Given the description of an element on the screen output the (x, y) to click on. 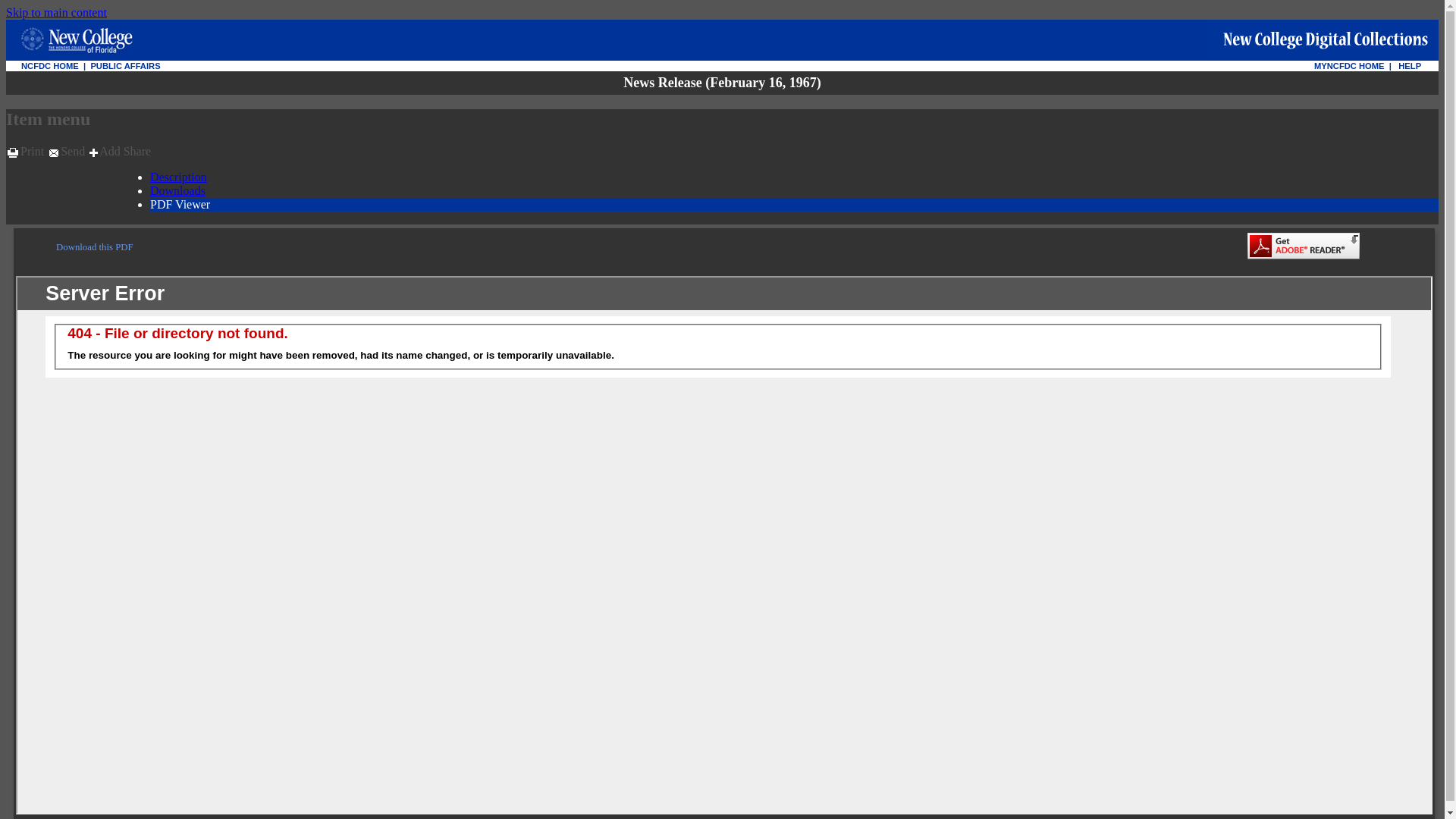
Download this PDF (94, 246)
HELP (1409, 65)
Skip to main content (55, 11)
Description (177, 176)
PUBLIC AFFAIRS (125, 65)
NCFDC HOME (49, 65)
Downloads (177, 190)
MYNCFDC HOME (1349, 65)
